Given the description of an element on the screen output the (x, y) to click on. 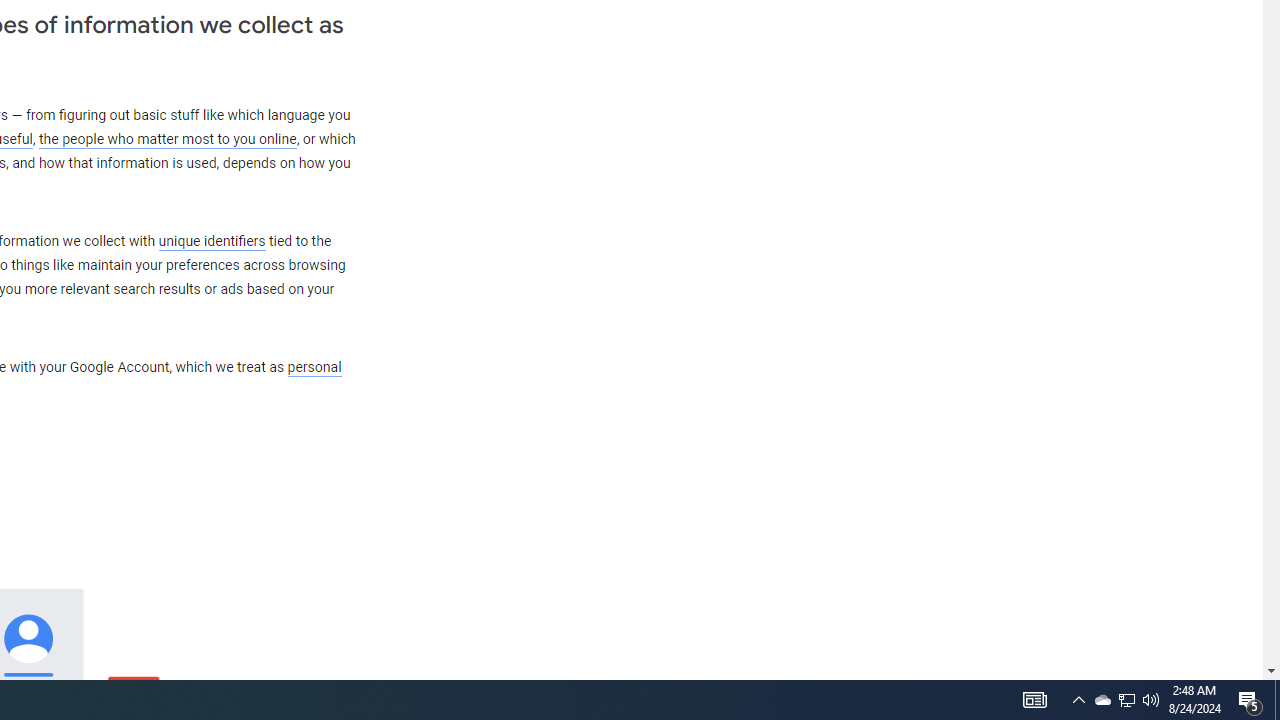
the people who matter most to you online (167, 139)
unique identifiers (211, 241)
